Given the description of an element on the screen output the (x, y) to click on. 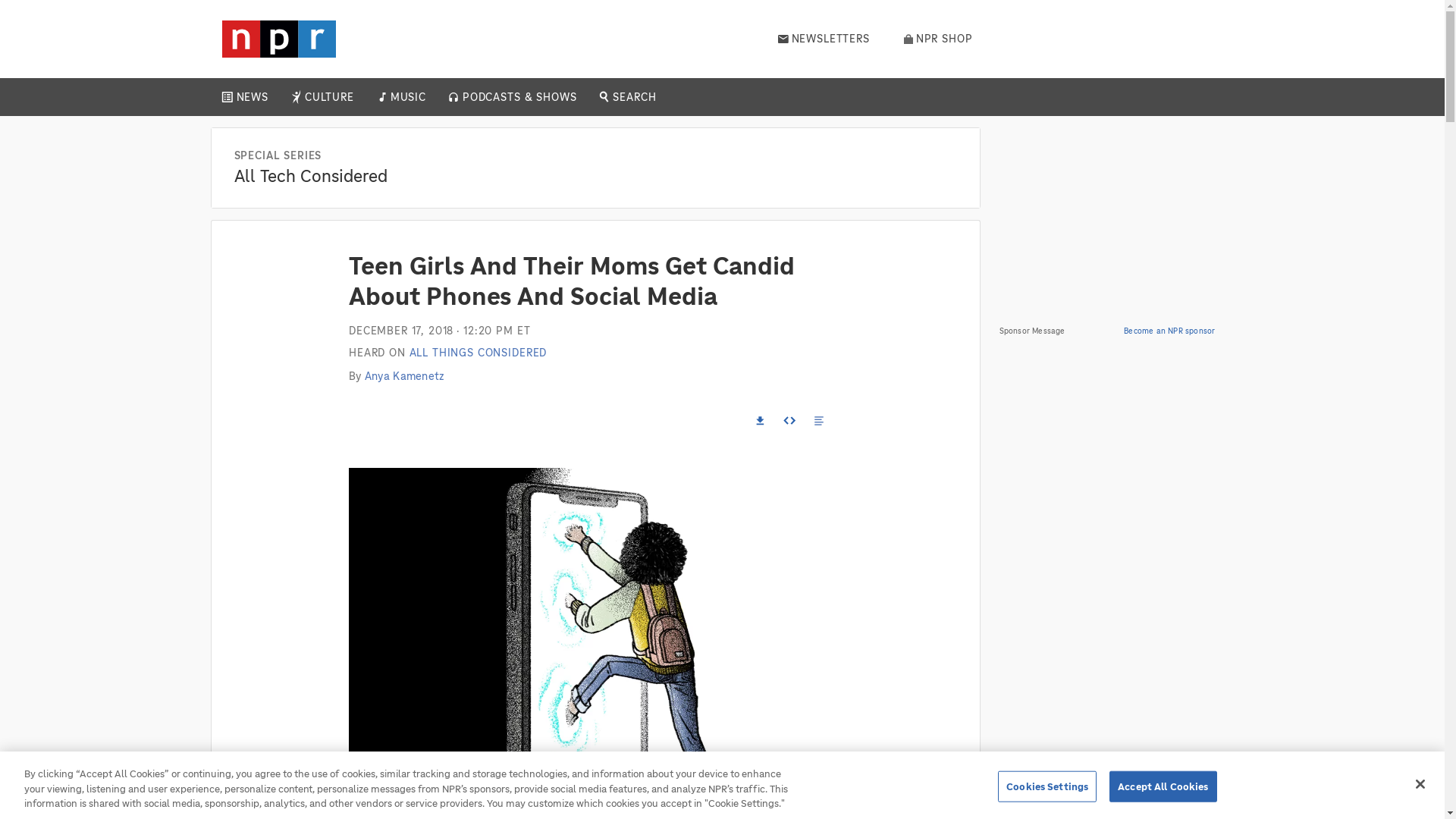
NEWSLETTERS (823, 38)
NEWS (251, 96)
NPR SHOP (938, 38)
MUSIC (407, 96)
CULTURE (328, 96)
